Given the description of an element on the screen output the (x, y) to click on. 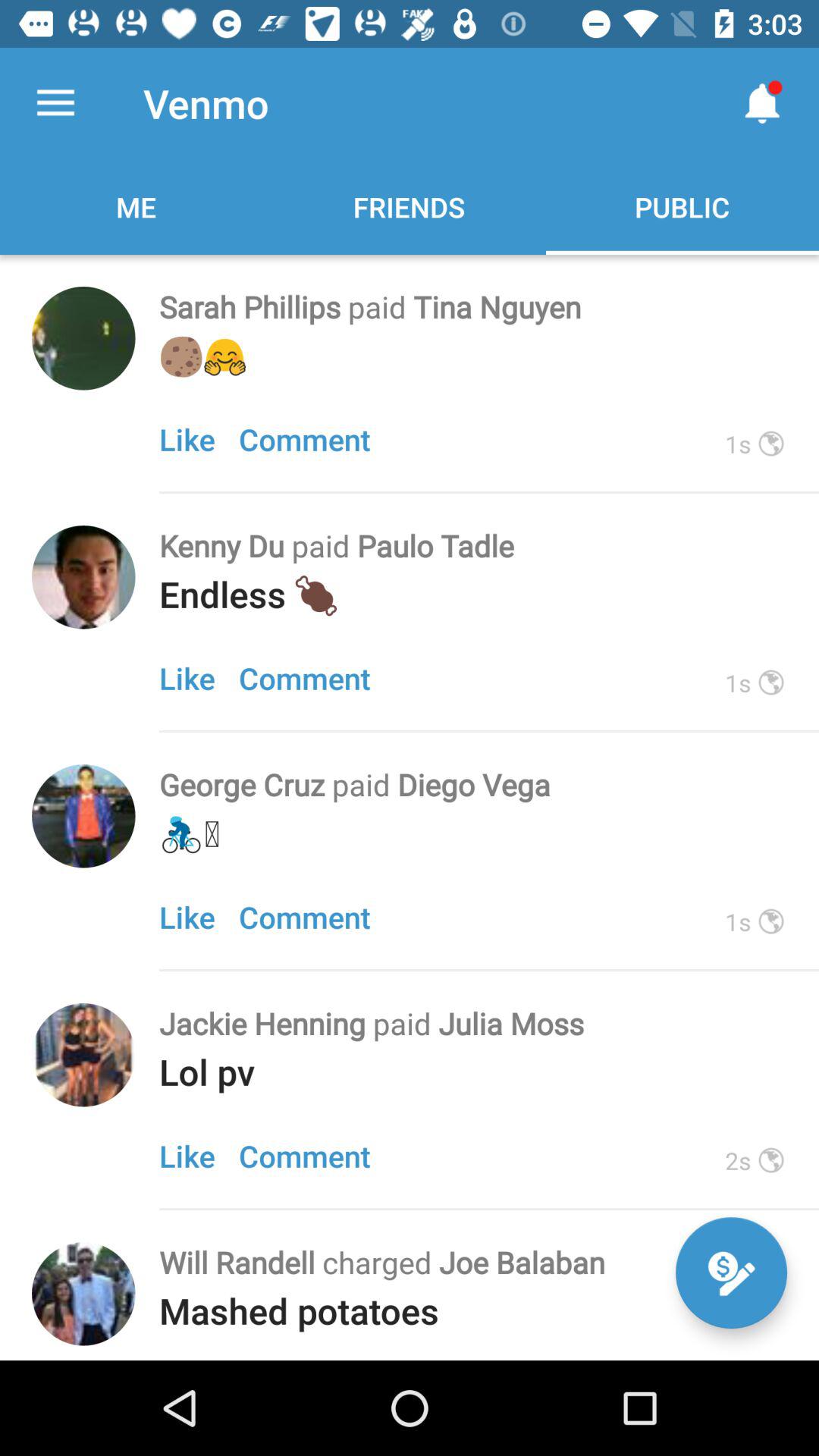
open profile (83, 815)
